Given the description of an element on the screen output the (x, y) to click on. 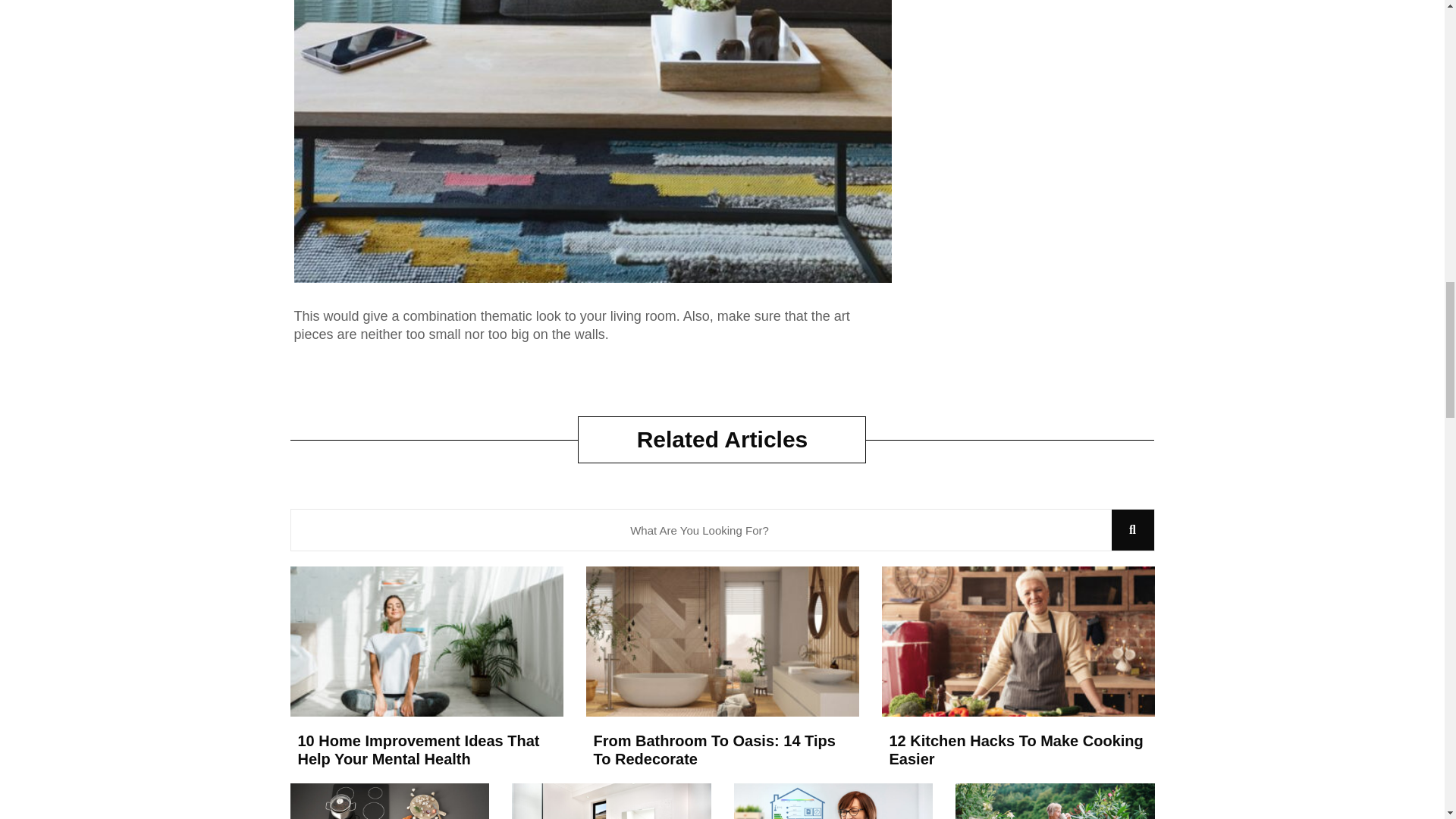
Search (1133, 529)
Search (701, 529)
